Given the description of an element on the screen output the (x, y) to click on. 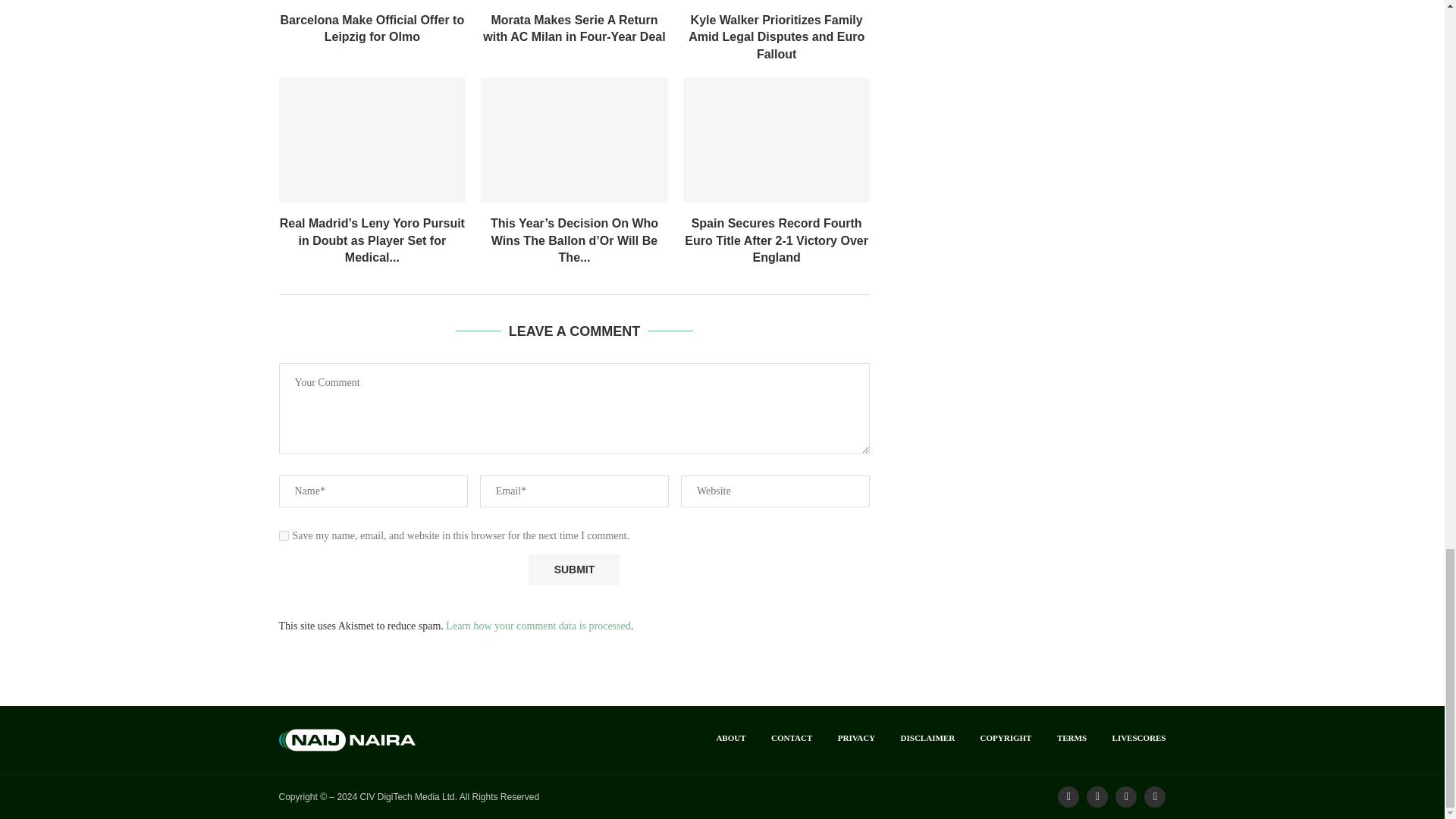
Submit (574, 569)
yes (283, 535)
